Given the description of an element on the screen output the (x, y) to click on. 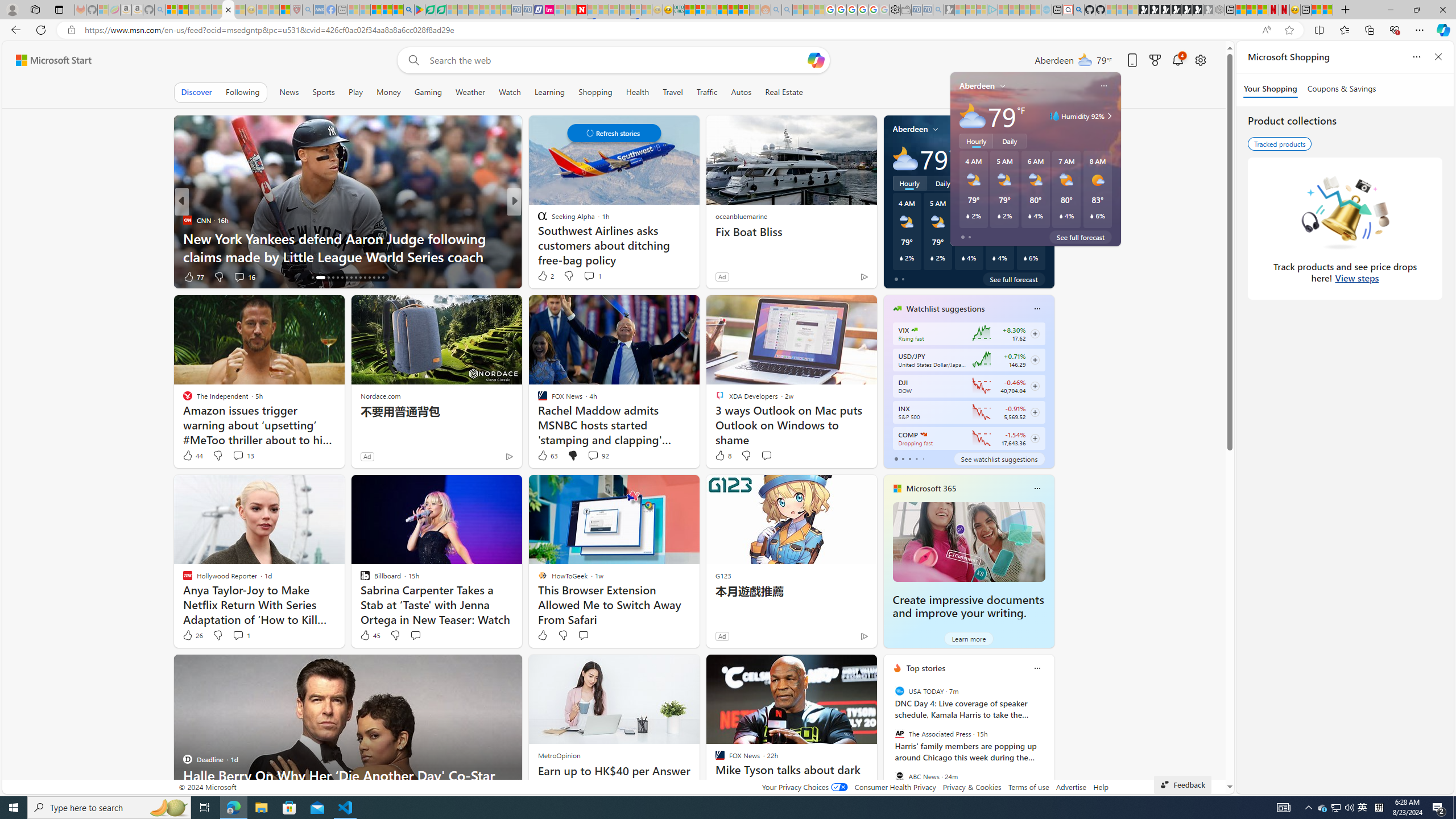
tab-2 (908, 458)
